Given the description of an element on the screen output the (x, y) to click on. 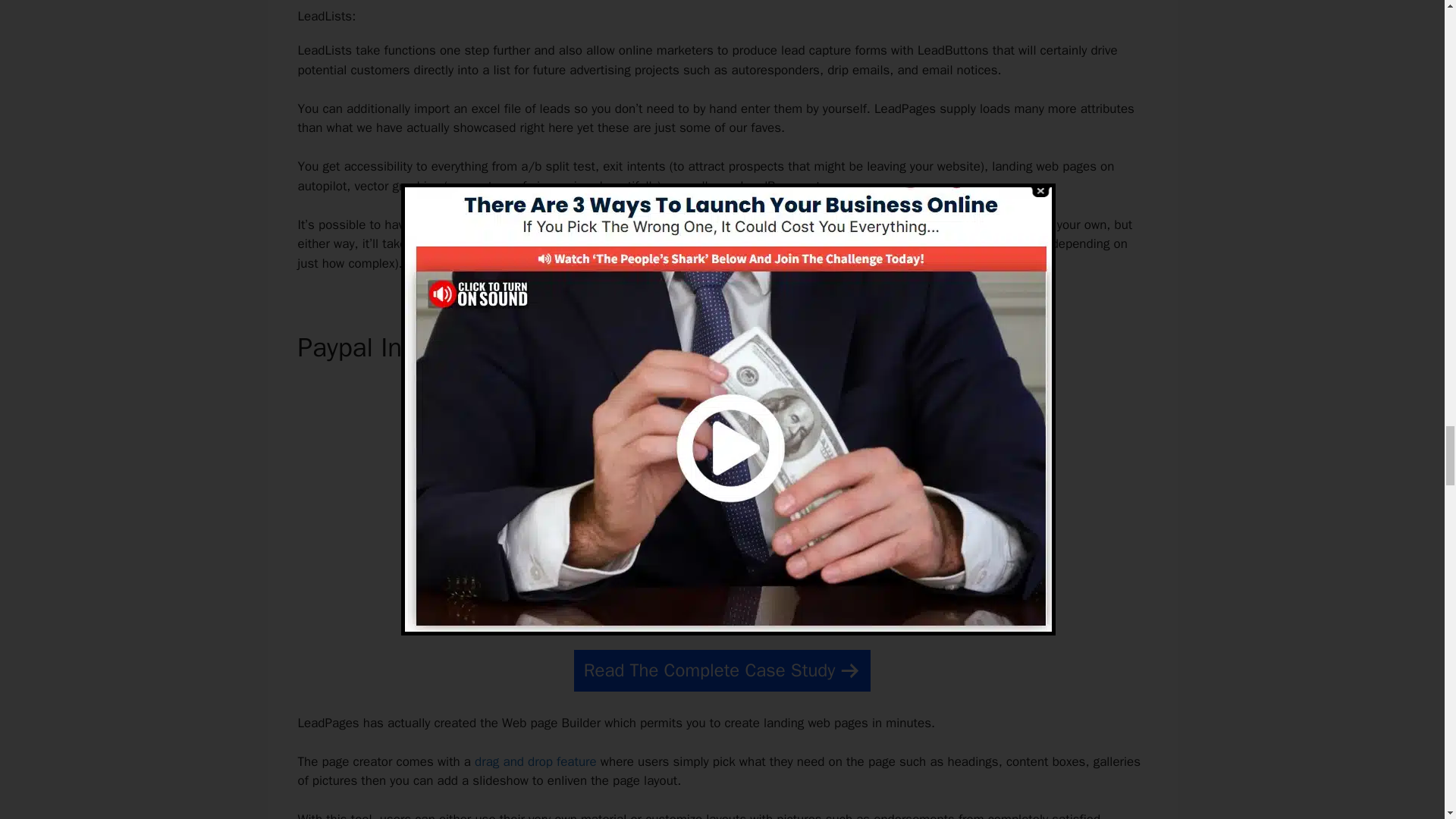
drag and drop feature (535, 761)
Read The Complete Case Study (721, 670)
